Given the description of an element on the screen output the (x, y) to click on. 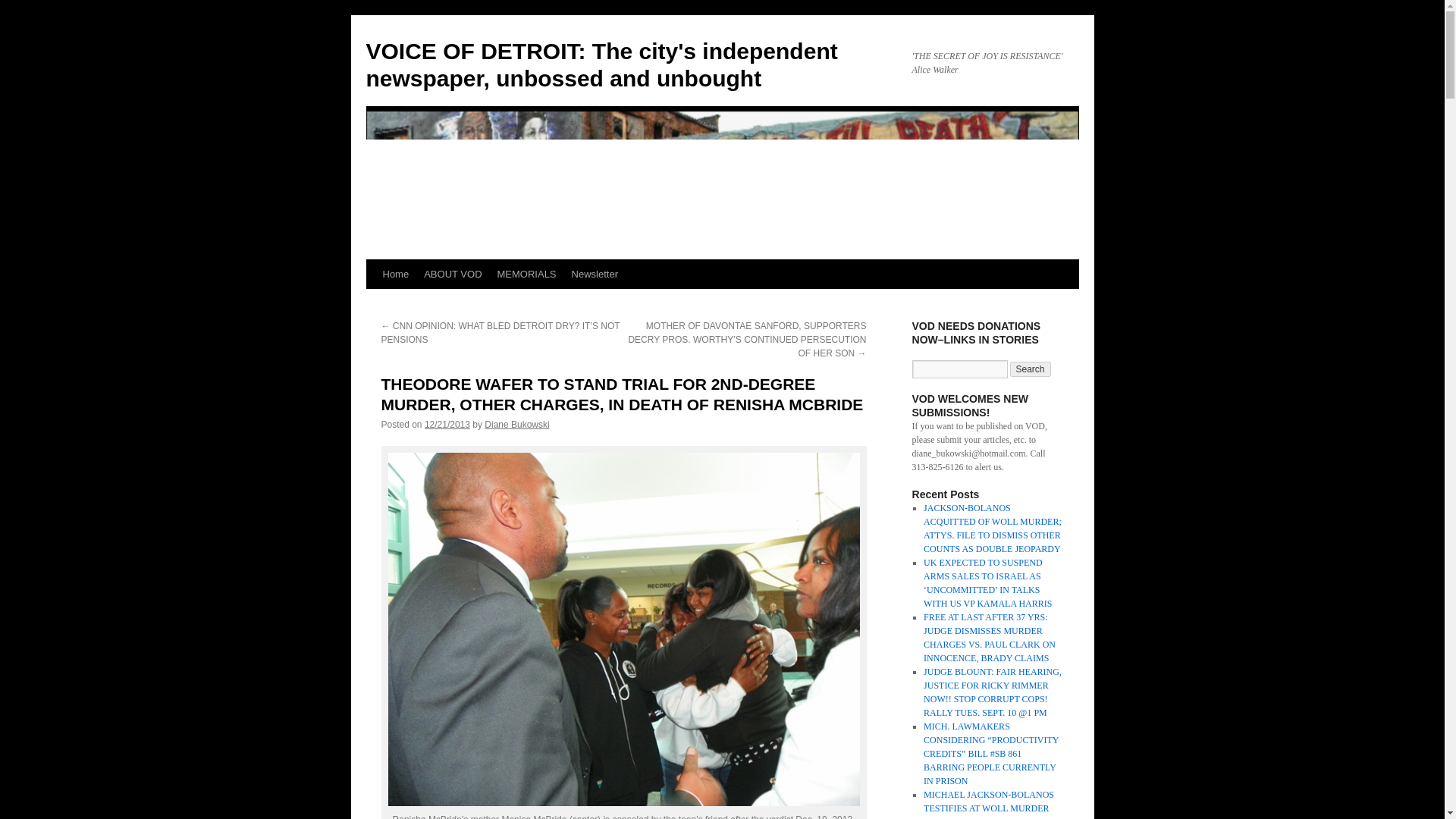
ABOUT VOD (452, 274)
Newsletter (595, 274)
View all posts by Diane Bukowski (516, 424)
MEMORIALS (526, 274)
Diane Bukowski (516, 424)
Search (1030, 368)
12:28 pm (447, 424)
Home (395, 274)
